Given the description of an element on the screen output the (x, y) to click on. 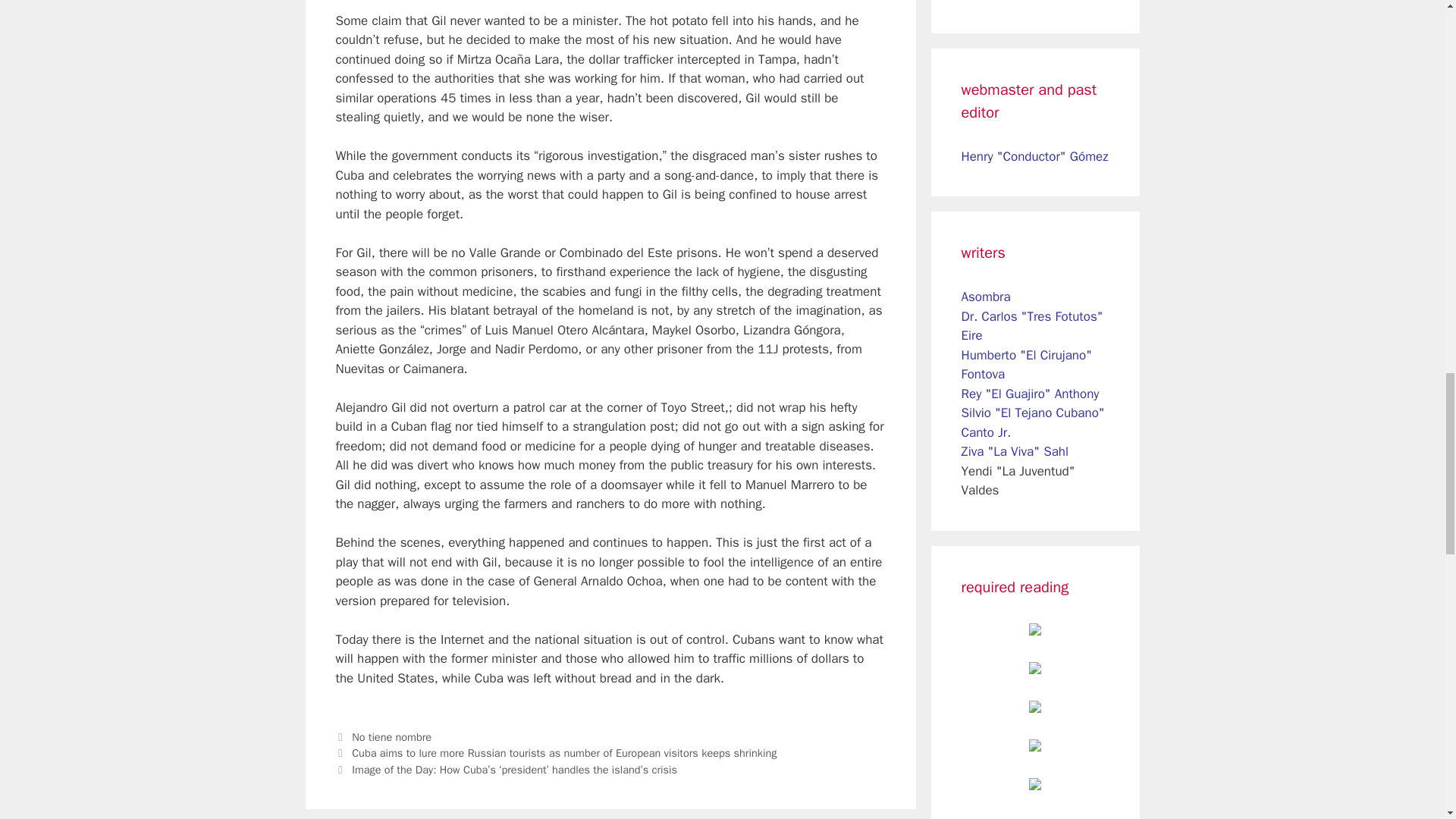
No tiene nombre (391, 736)
Dr. Carlos "Tres Fotutos" Eire (1031, 325)
Rey "El Guajiro" Anthony (1029, 393)
Silvio "El Tejano Cubano" Canto Jr. (1032, 422)
Humberto "El Cirujano" Fontova (1026, 365)
Asombra (985, 296)
Ziva "La Viva" Sahl (1014, 451)
Alberto "El Americanito" de la Cruz (1028, 0)
